Given the description of an element on the screen output the (x, y) to click on. 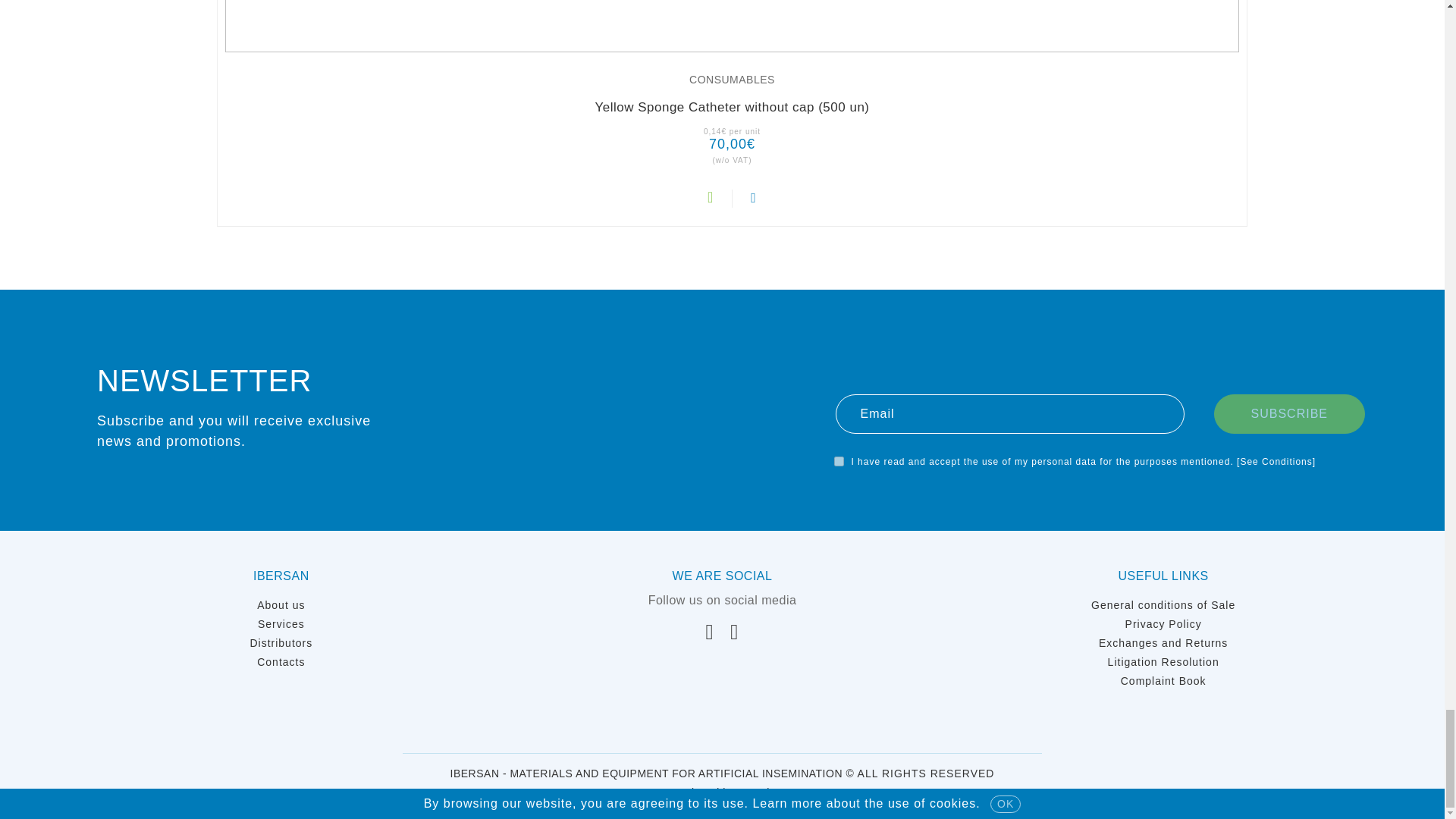
on (839, 461)
